Given the description of an element on the screen output the (x, y) to click on. 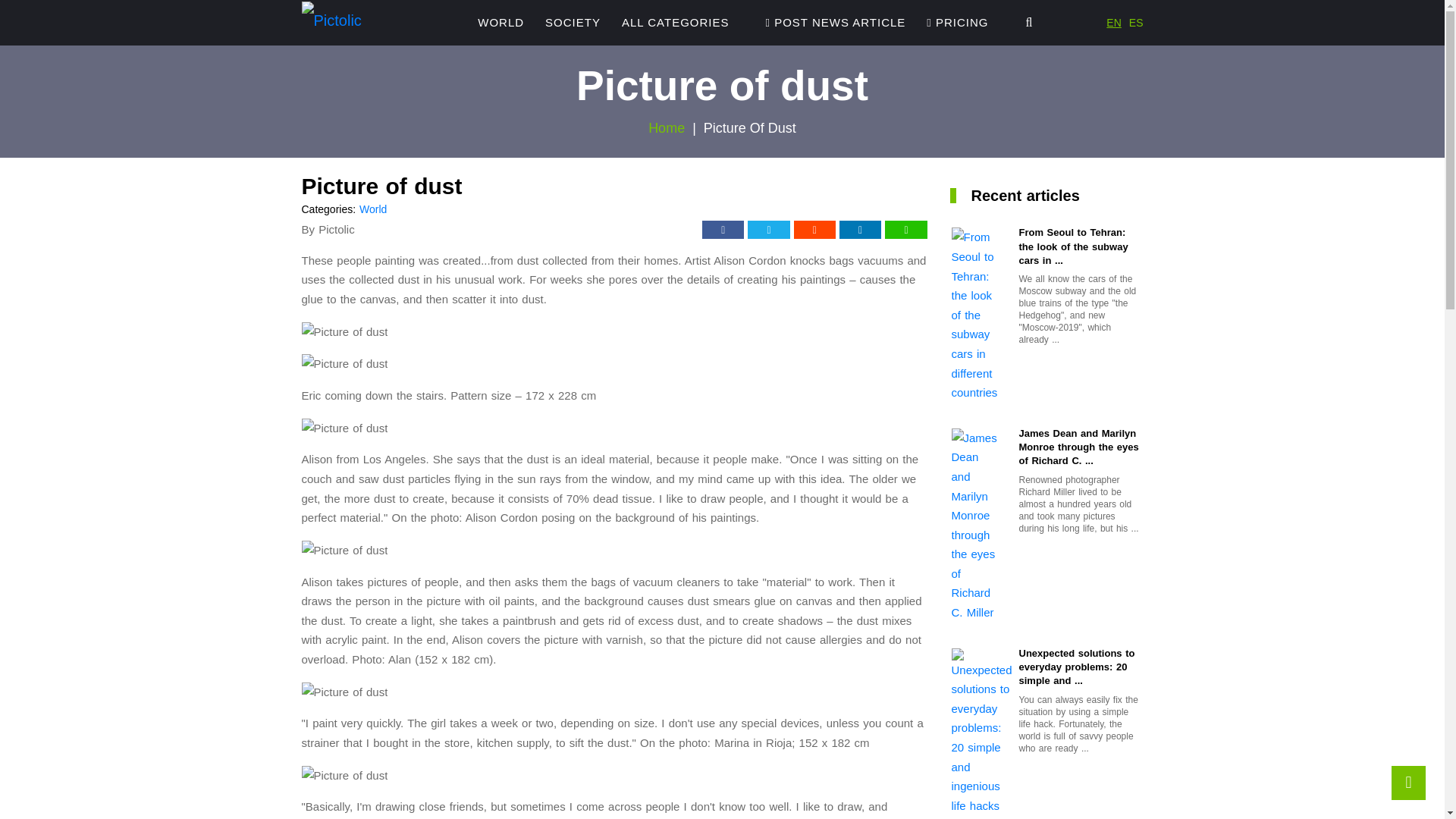
LinkedIn (860, 229)
Home (665, 127)
World (373, 209)
Picture of dust (344, 332)
Pricing (956, 22)
POST NEWS ARTICLE (836, 22)
Whatsapp (905, 229)
Society (572, 22)
WORLD (500, 22)
Picture of dust (344, 550)
